Given the description of an element on the screen output the (x, y) to click on. 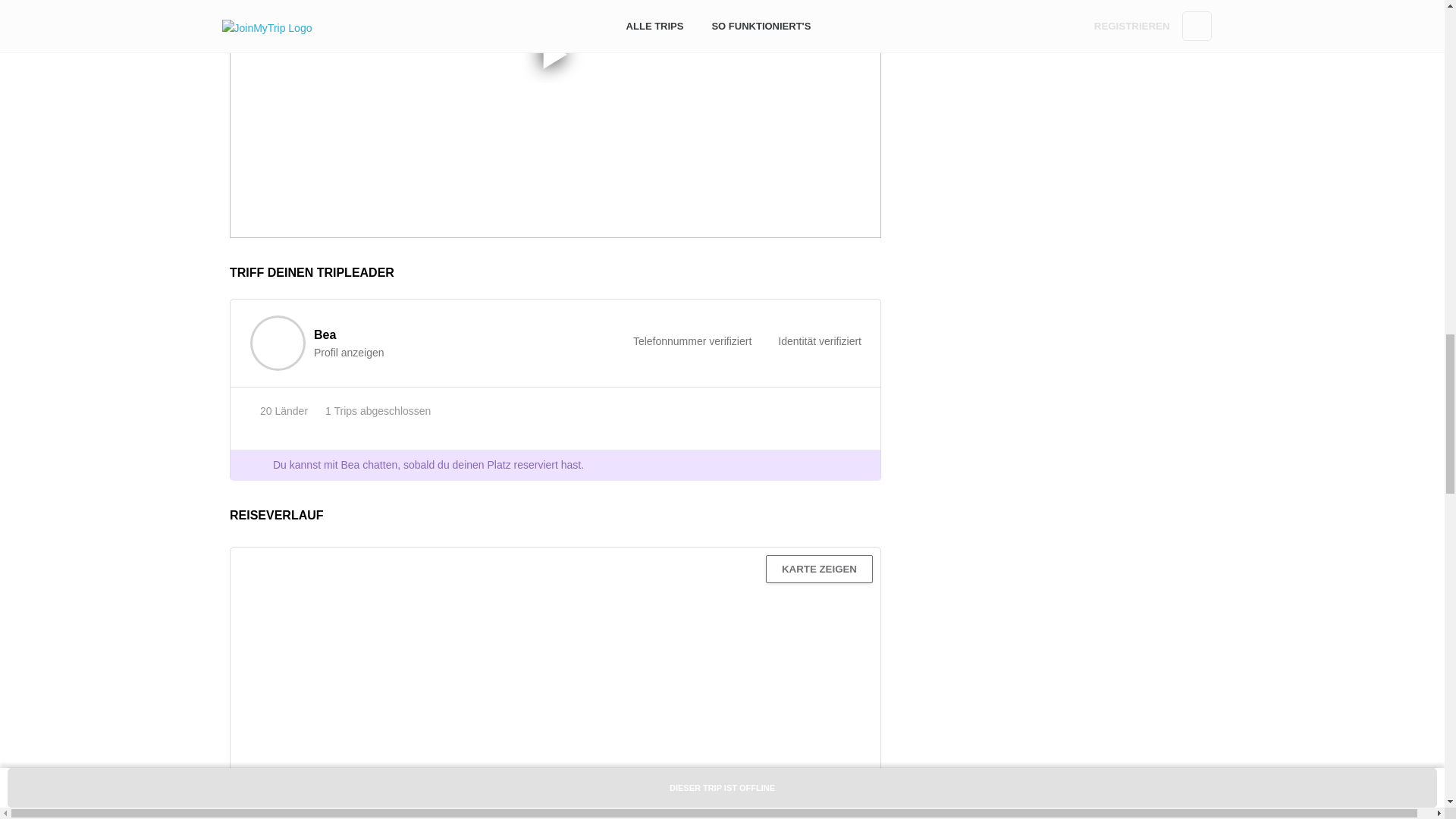
KARTE ZEIGEN (818, 569)
Bea (318, 342)
